Given the description of an element on the screen output the (x, y) to click on. 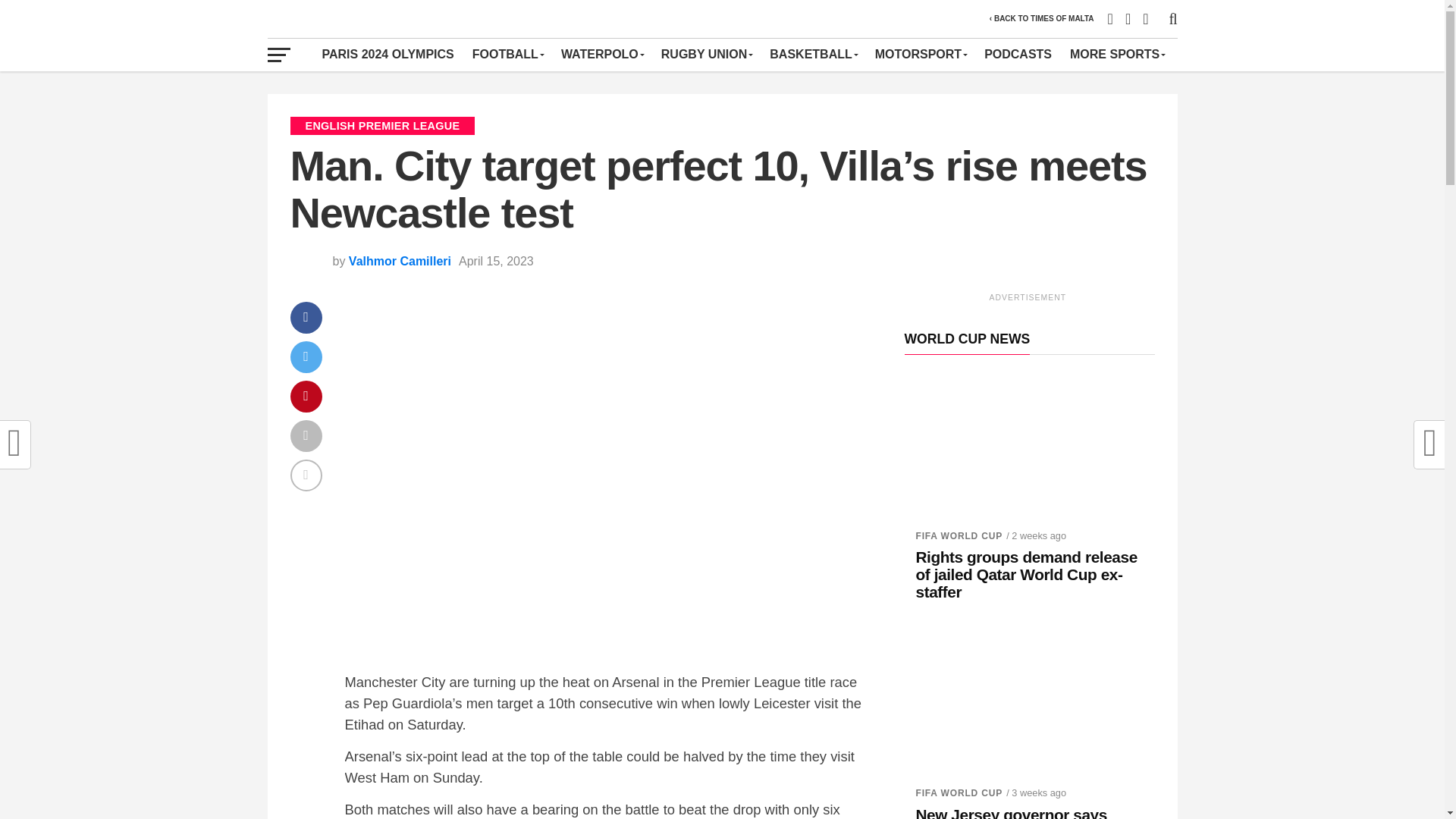
Posts by Valhmor Camilleri (400, 260)
